Given the description of an element on the screen output the (x, y) to click on. 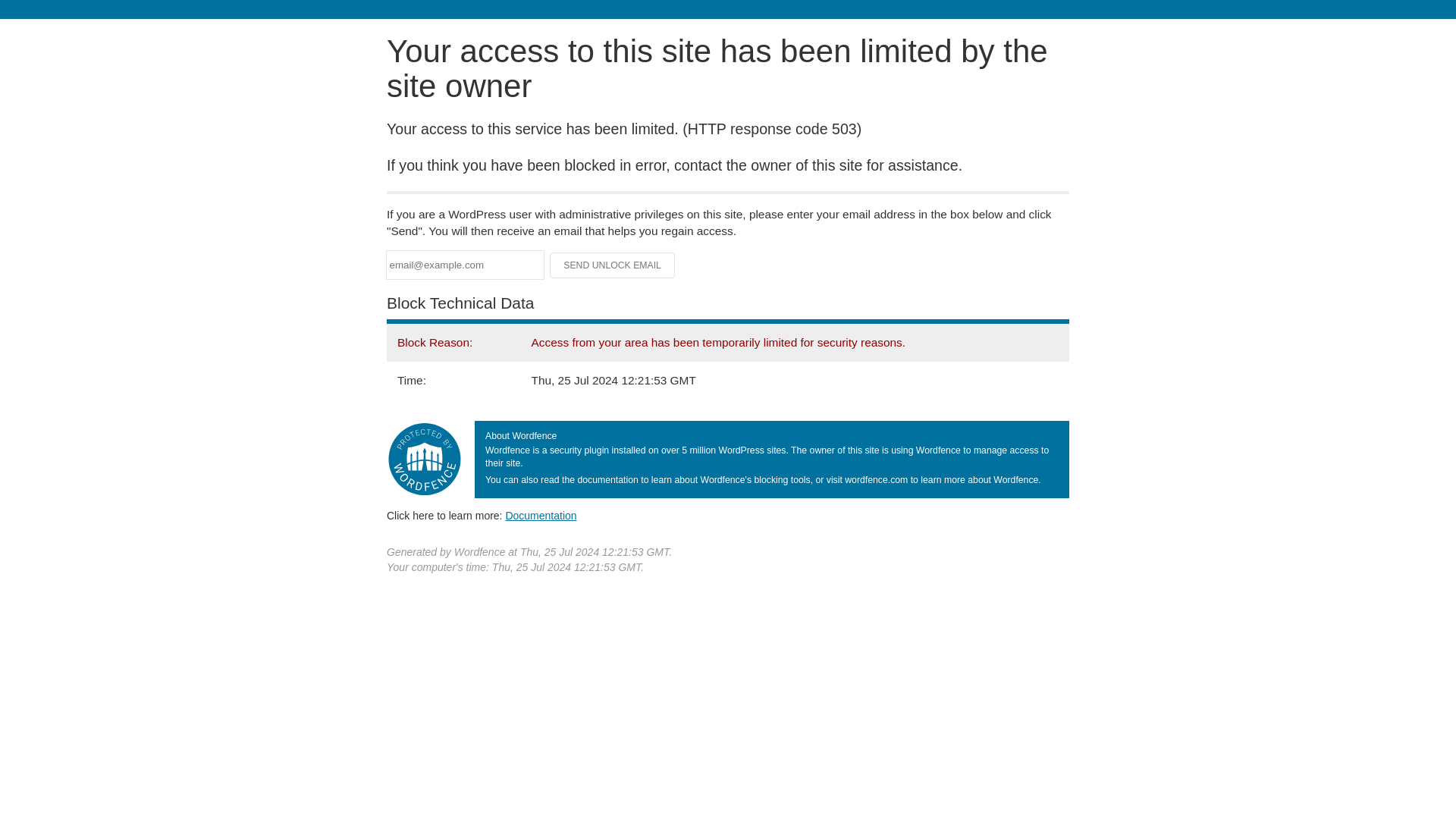
Send Unlock Email (612, 265)
Send Unlock Email (612, 265)
Documentation (540, 515)
